Given the description of an element on the screen output the (x, y) to click on. 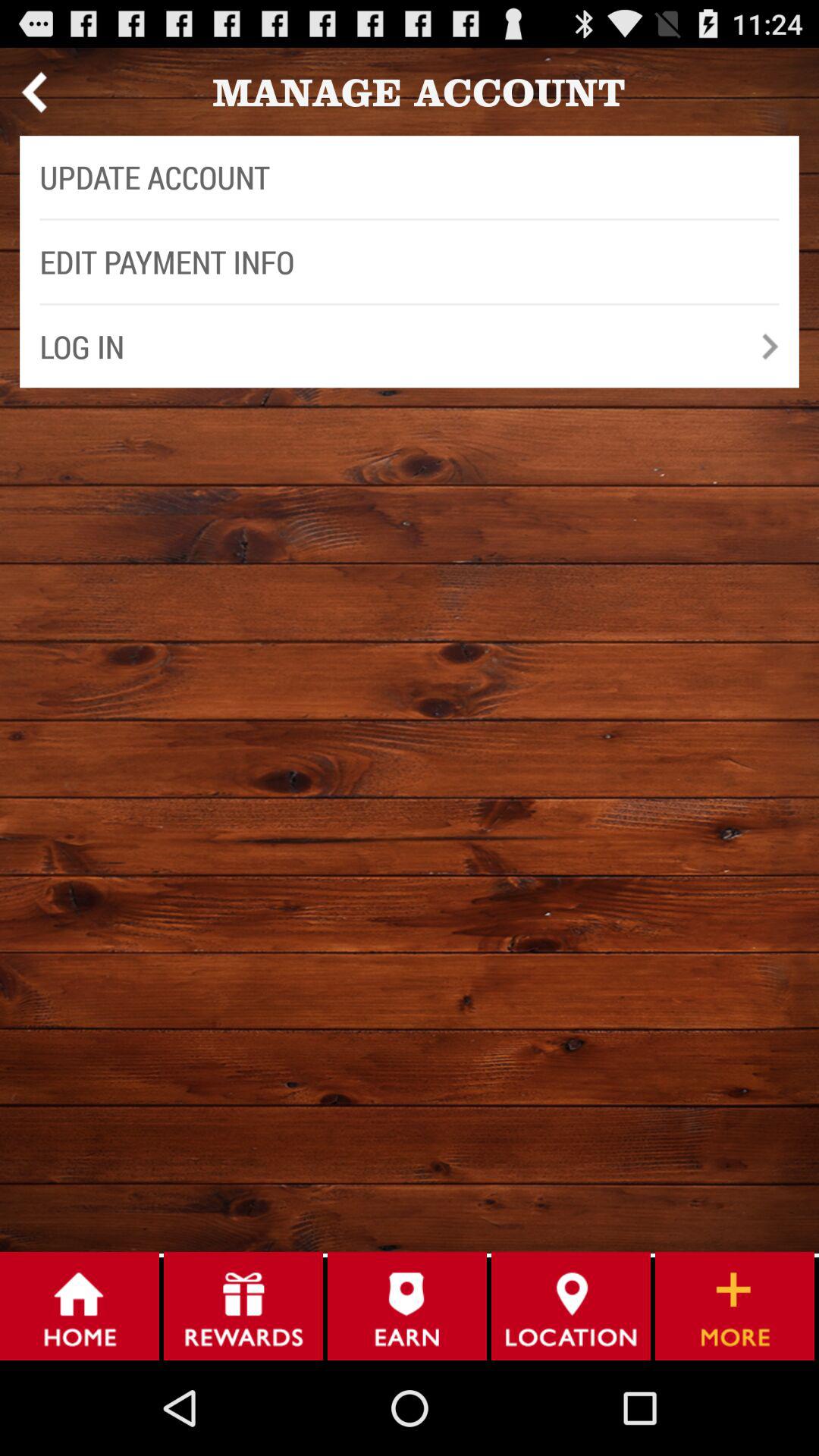
tap icon above update account app (33, 91)
